Given the description of an element on the screen output the (x, y) to click on. 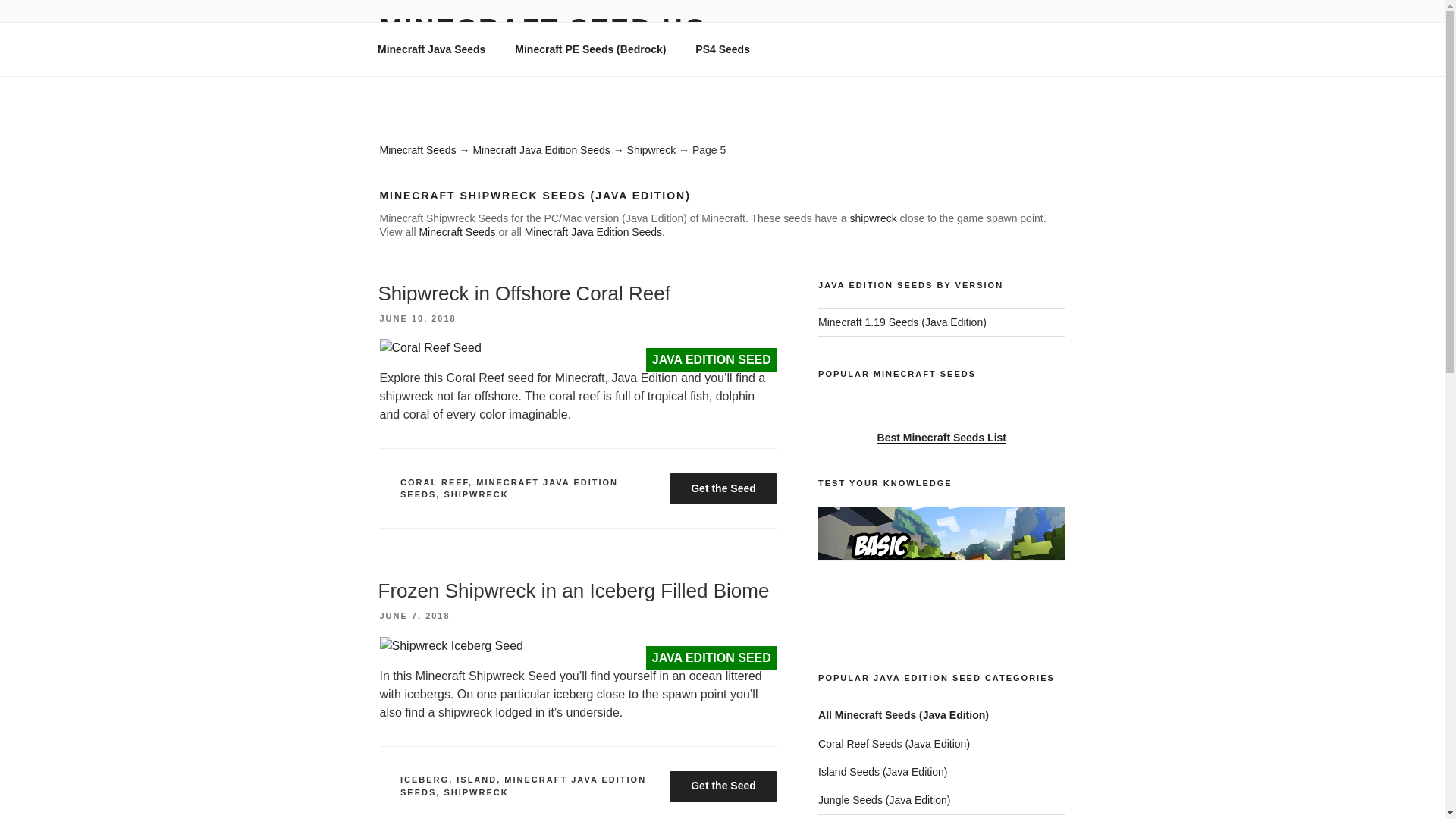
Minecraft Seeds (416, 150)
JUNE 7, 2018 (413, 614)
Shipwreck in Offshore Coral Reef (523, 292)
Minecraft Seeds (457, 232)
SHIPWRECK (476, 791)
Get the Minecraft Java Edition Seed (723, 786)
Minecraft Java Seeds (430, 48)
shipwreck (872, 218)
Get the Seed (723, 488)
ICEBERG (424, 778)
Minecraft Java Edition Seeds (540, 150)
JAVA EDITION SEED (429, 347)
All Minecraft 1.19 Seeds (902, 322)
CORAL REEF (434, 481)
Minecraft Java Edition Seeds (593, 232)
